Given the description of an element on the screen output the (x, y) to click on. 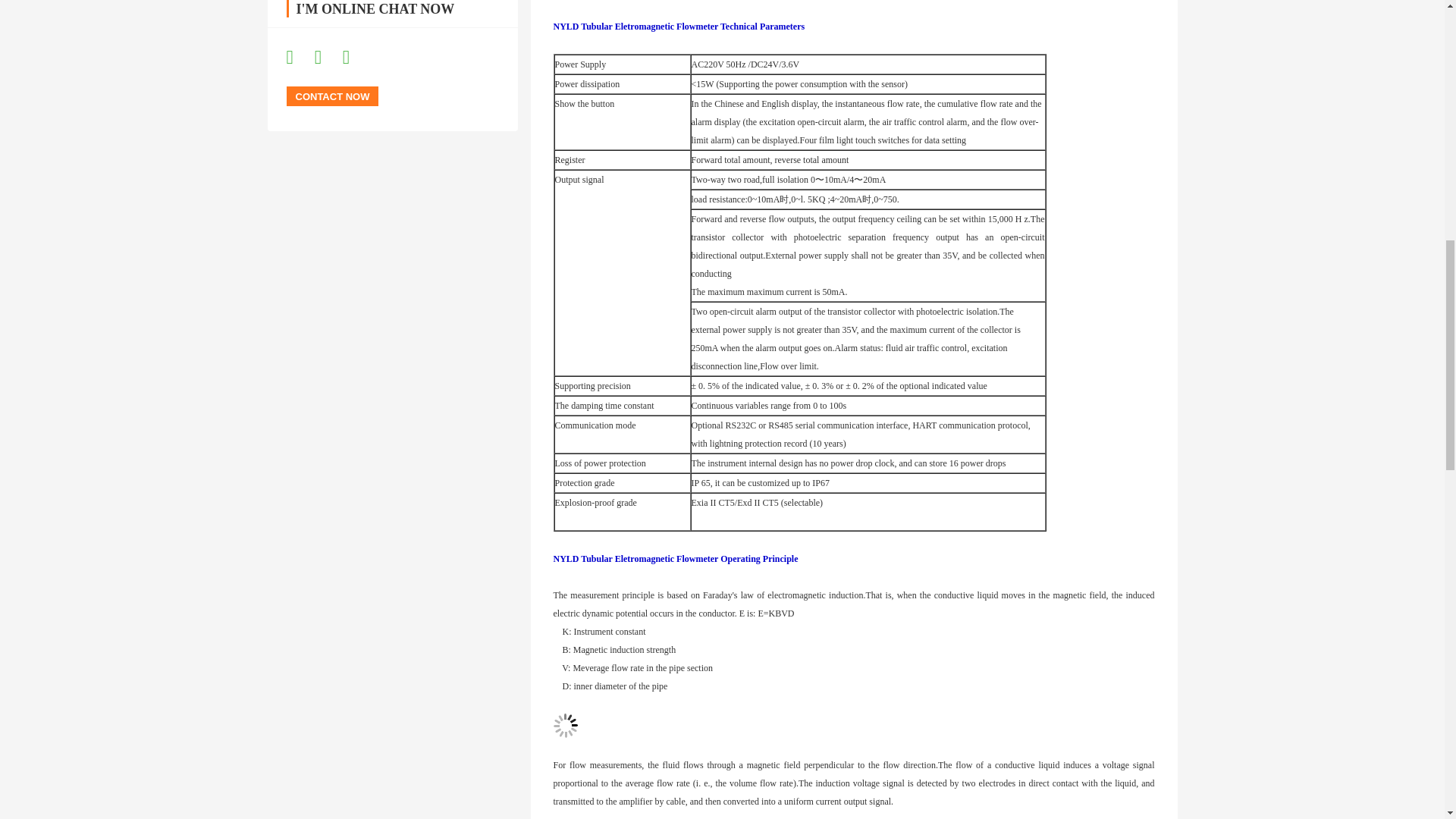
Contact Now (332, 96)
